Given the description of an element on the screen output the (x, y) to click on. 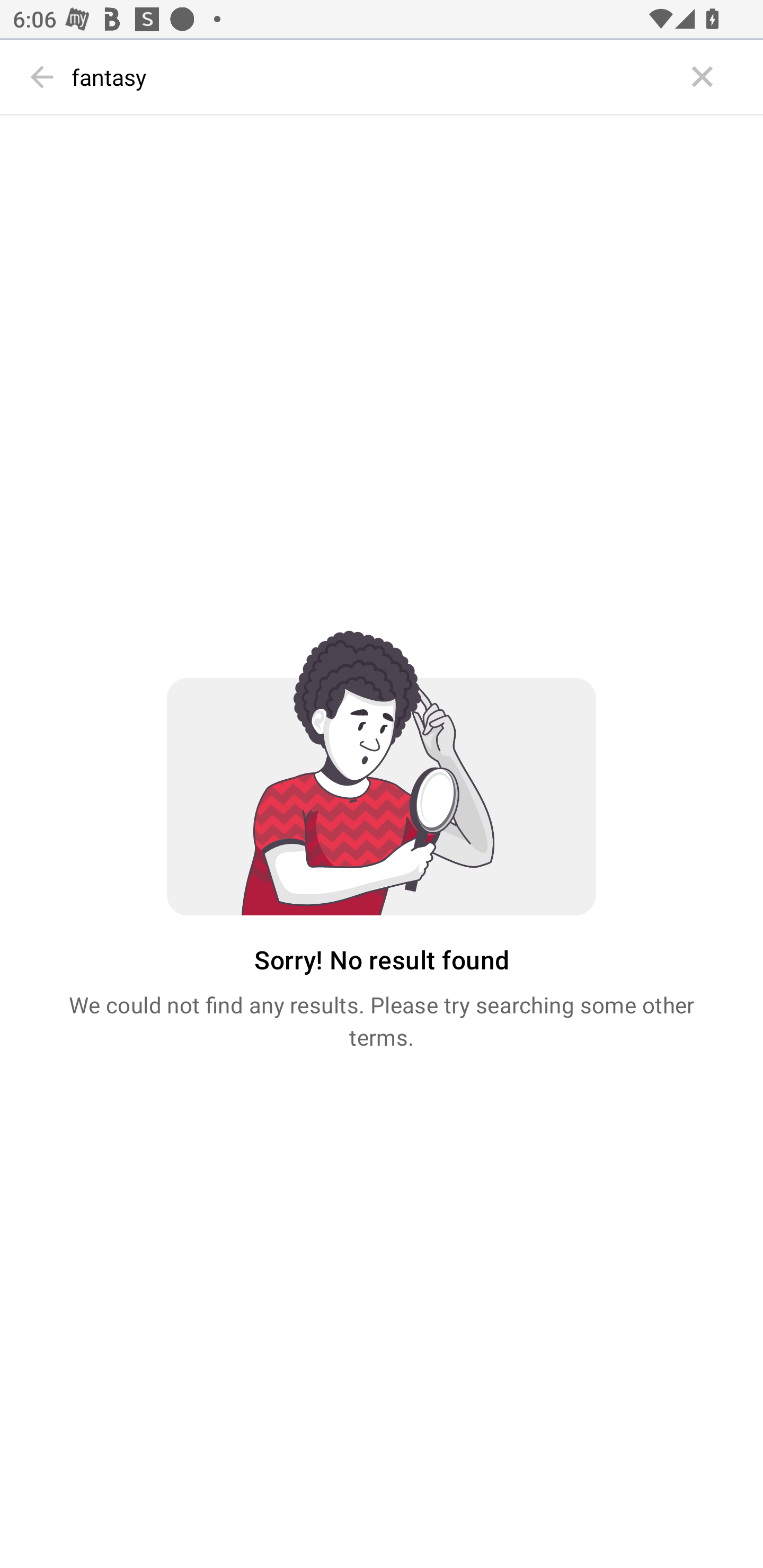
Back (42, 76)
fantasy (373, 76)
Close (702, 76)
